Given the description of an element on the screen output the (x, y) to click on. 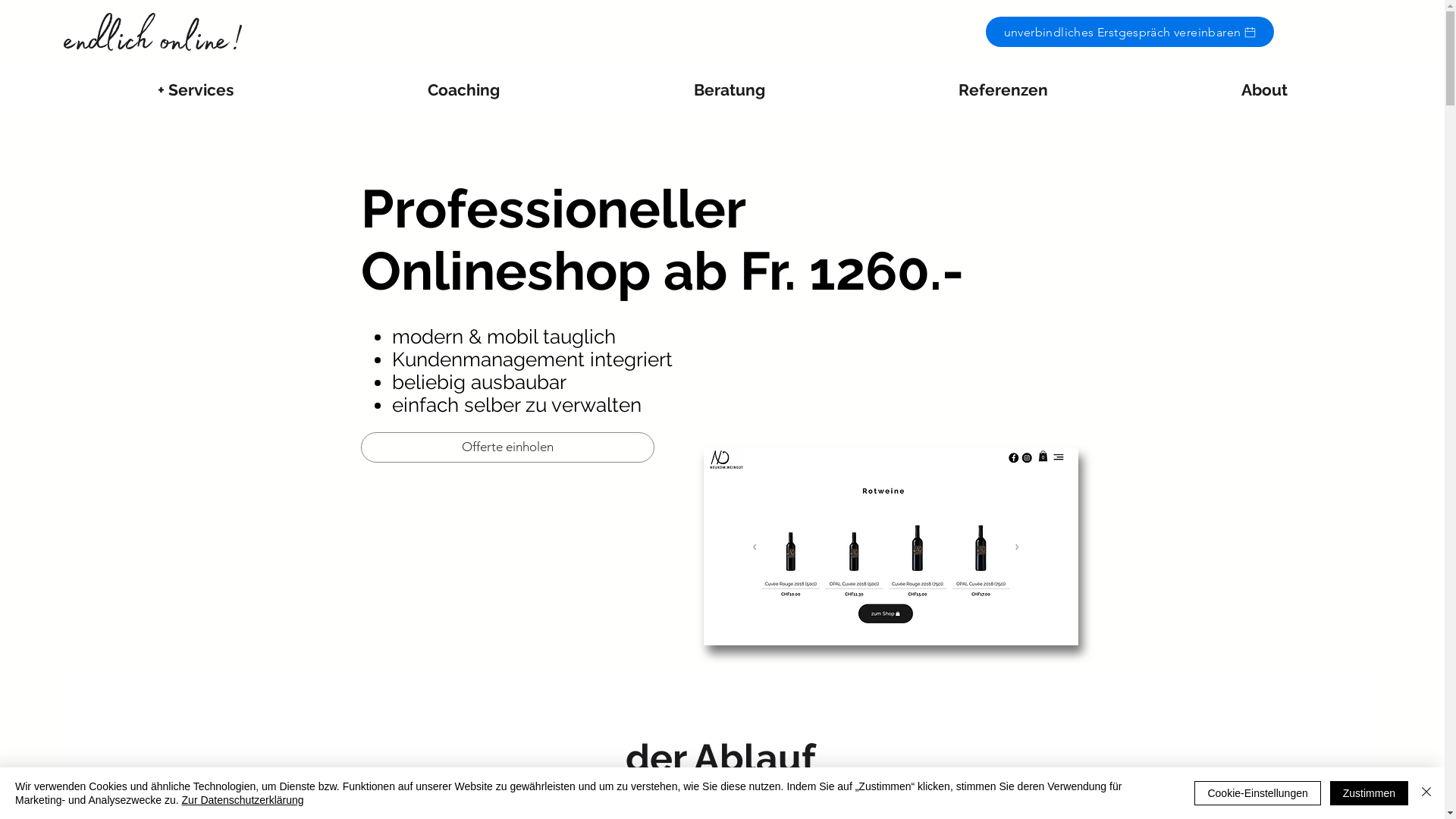
Cookie-Einstellungen Element type: text (1257, 793)
Offerte einholen Element type: text (507, 447)
Coaching Element type: text (463, 90)
Beratung Element type: text (728, 90)
About Element type: text (1263, 90)
+ Services Element type: text (195, 90)
Zustimmen Element type: text (1369, 793)
Referenzen Element type: text (1002, 90)
